Given the description of an element on the screen output the (x, y) to click on. 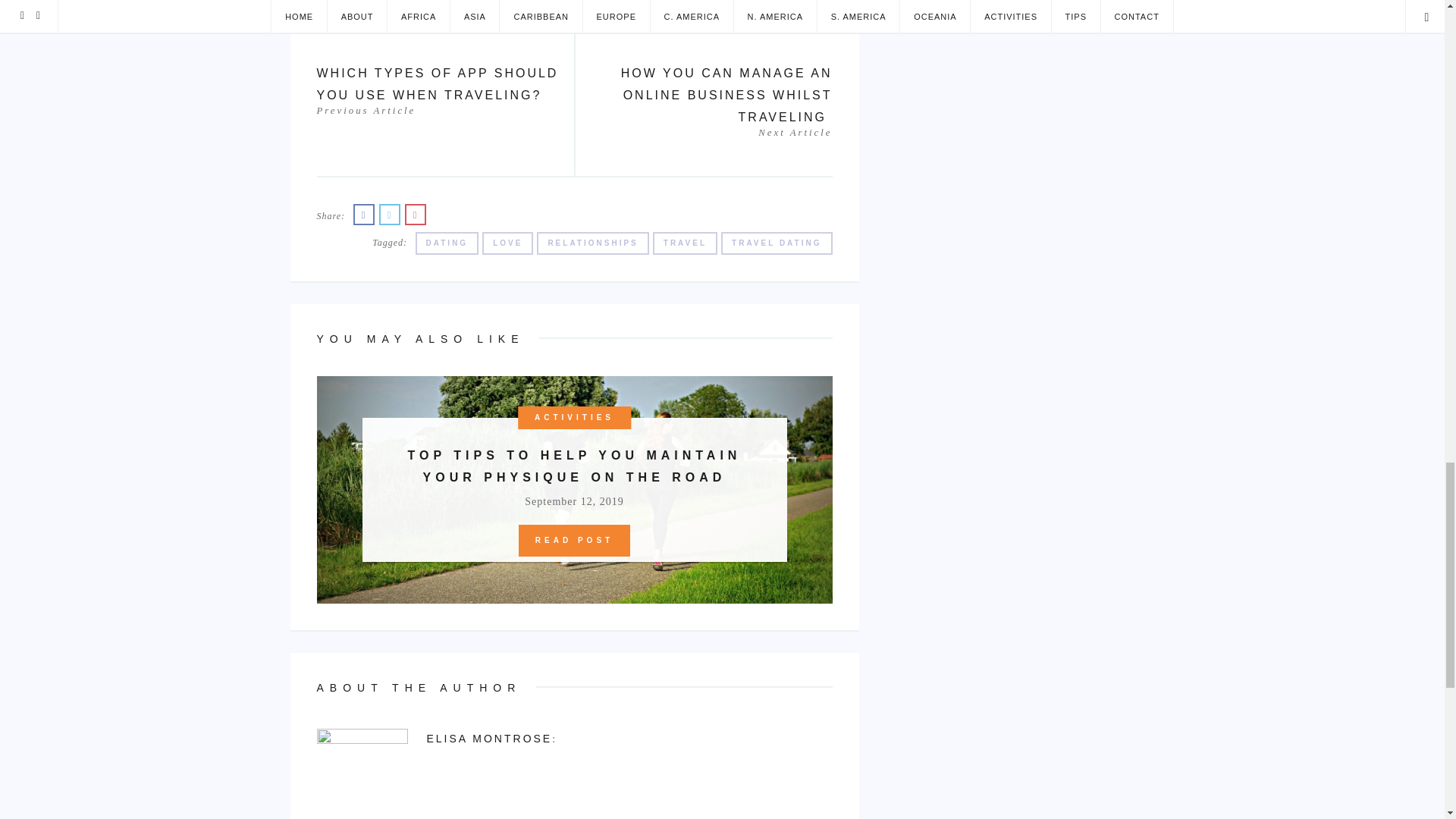
LOVE (506, 242)
TRAVEL (684, 242)
DATING (446, 242)
READ POST (574, 540)
RELATIONSHIPS (592, 242)
TRAVEL DATING (775, 242)
ACTIVITIES (574, 417)
